Given the description of an element on the screen output the (x, y) to click on. 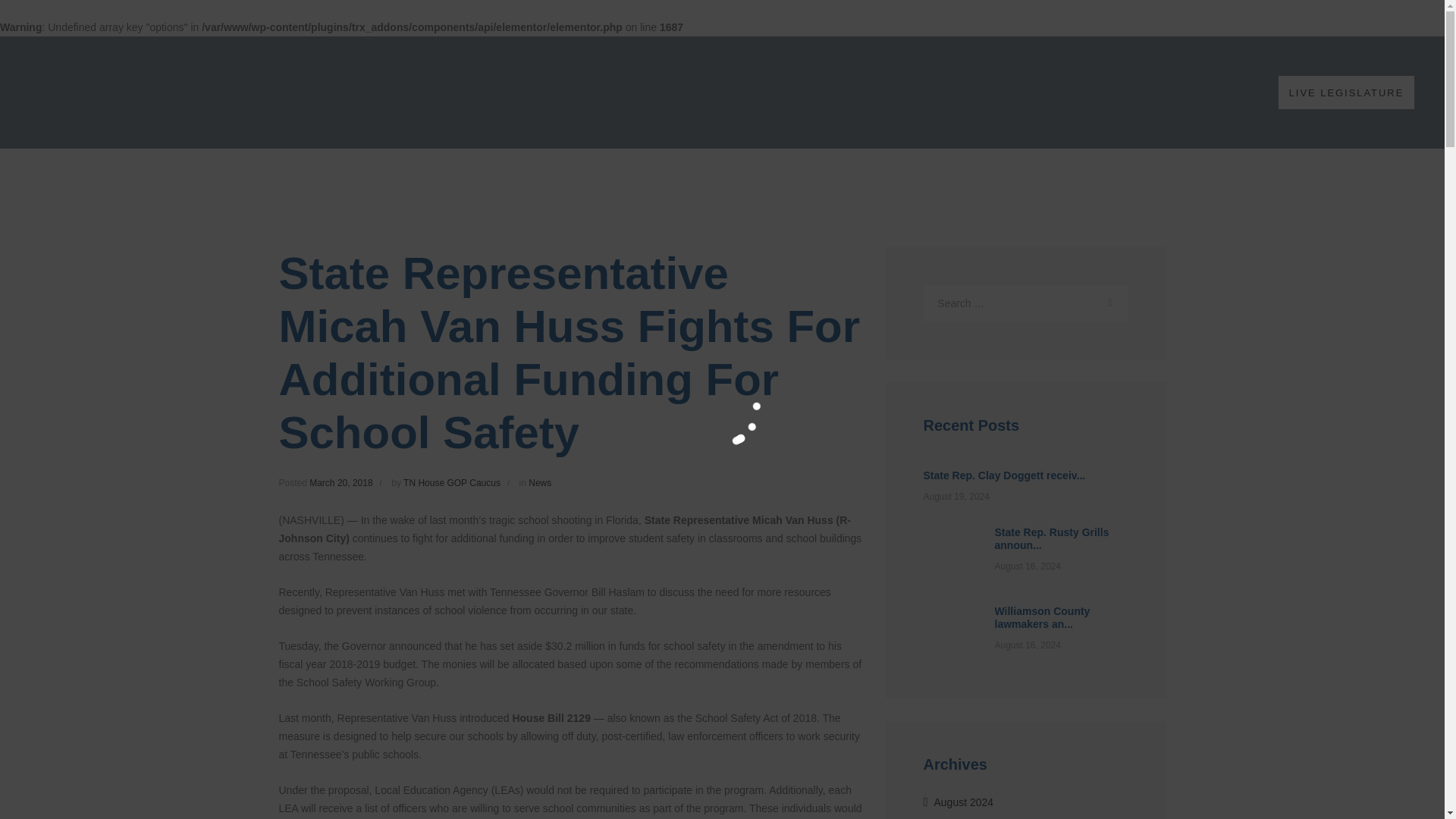
LIVE LEGISLATURE (1345, 92)
News (539, 482)
by TN House GOP Caucus (453, 482)
Search (1108, 303)
Search (1108, 303)
